Given the description of an element on the screen output the (x, y) to click on. 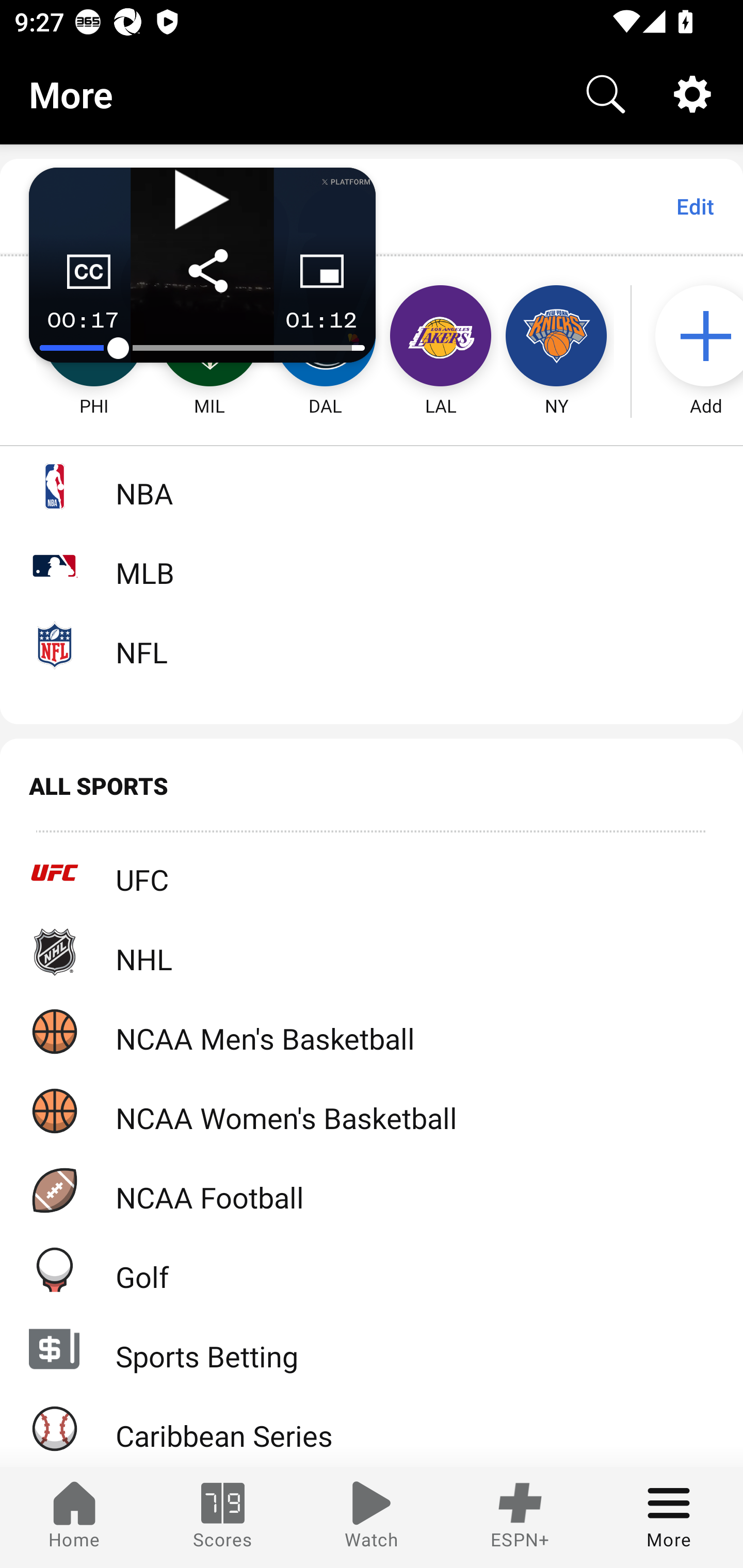
Search (605, 93)
Settings (692, 93)
Edit (695, 205)
LAL Los Angeles Lakers (440, 336)
NY New York Knicks (555, 336)
 Add (695, 336)
NBA (371, 485)
MLB (371, 565)
NFL (371, 645)
UFC (371, 872)
NHL (371, 951)
NCAA Men's Basketball (371, 1030)
NCAA Women's Basketball (371, 1110)
NCAA Football (371, 1189)
Golf (371, 1269)
Sports Betting (371, 1349)
Caribbean Series (371, 1428)
Home (74, 1517)
Scores (222, 1517)
Watch (371, 1517)
ESPN+ (519, 1517)
